Given the description of an element on the screen output the (x, y) to click on. 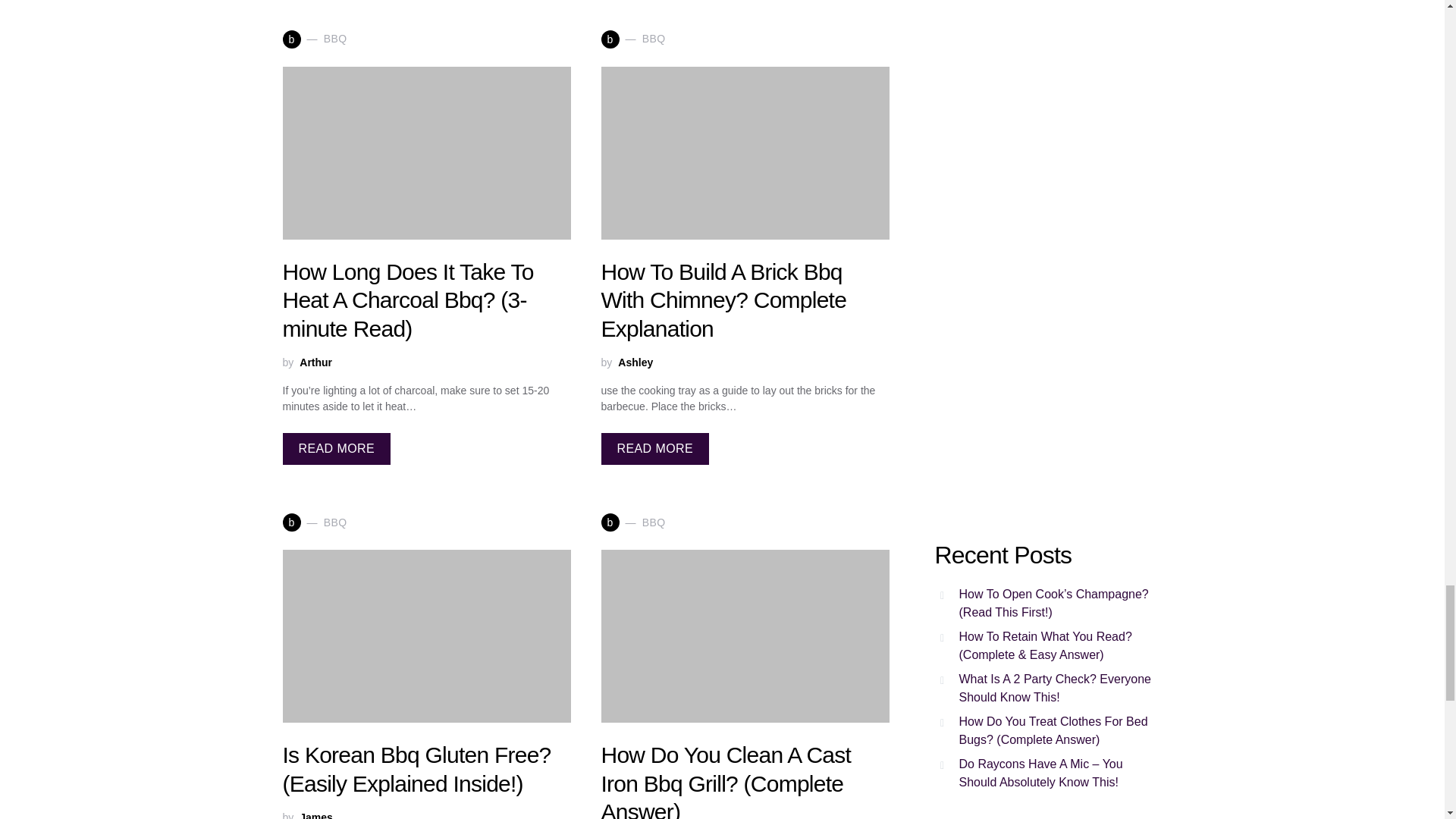
View all posts by Arthur (315, 362)
View all posts by James (316, 814)
View all posts by Ashley (634, 362)
